Given the description of an element on the screen output the (x, y) to click on. 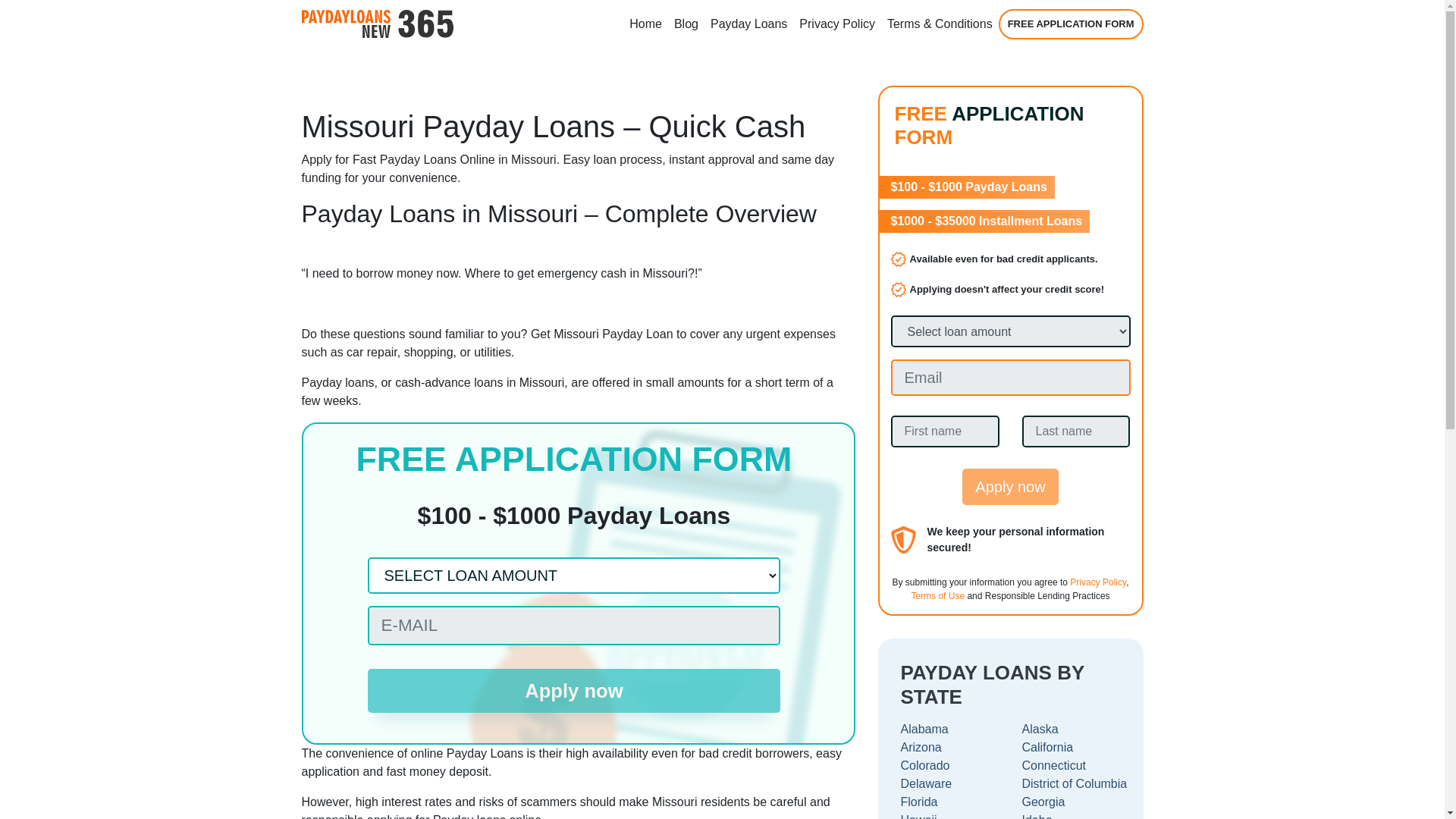
California (1070, 747)
Hawaii (949, 815)
Apply now (573, 690)
Payday Loans in Alabama (949, 729)
Georgia (1070, 802)
Connecticut (1070, 765)
Apply now (573, 690)
Apply now (1010, 486)
Blog (686, 24)
Free Application Form (1070, 23)
Payday Loans (748, 24)
Blog (686, 24)
Home (645, 24)
Alabama (949, 729)
Terms of Use (937, 595)
